Given the description of an element on the screen output the (x, y) to click on. 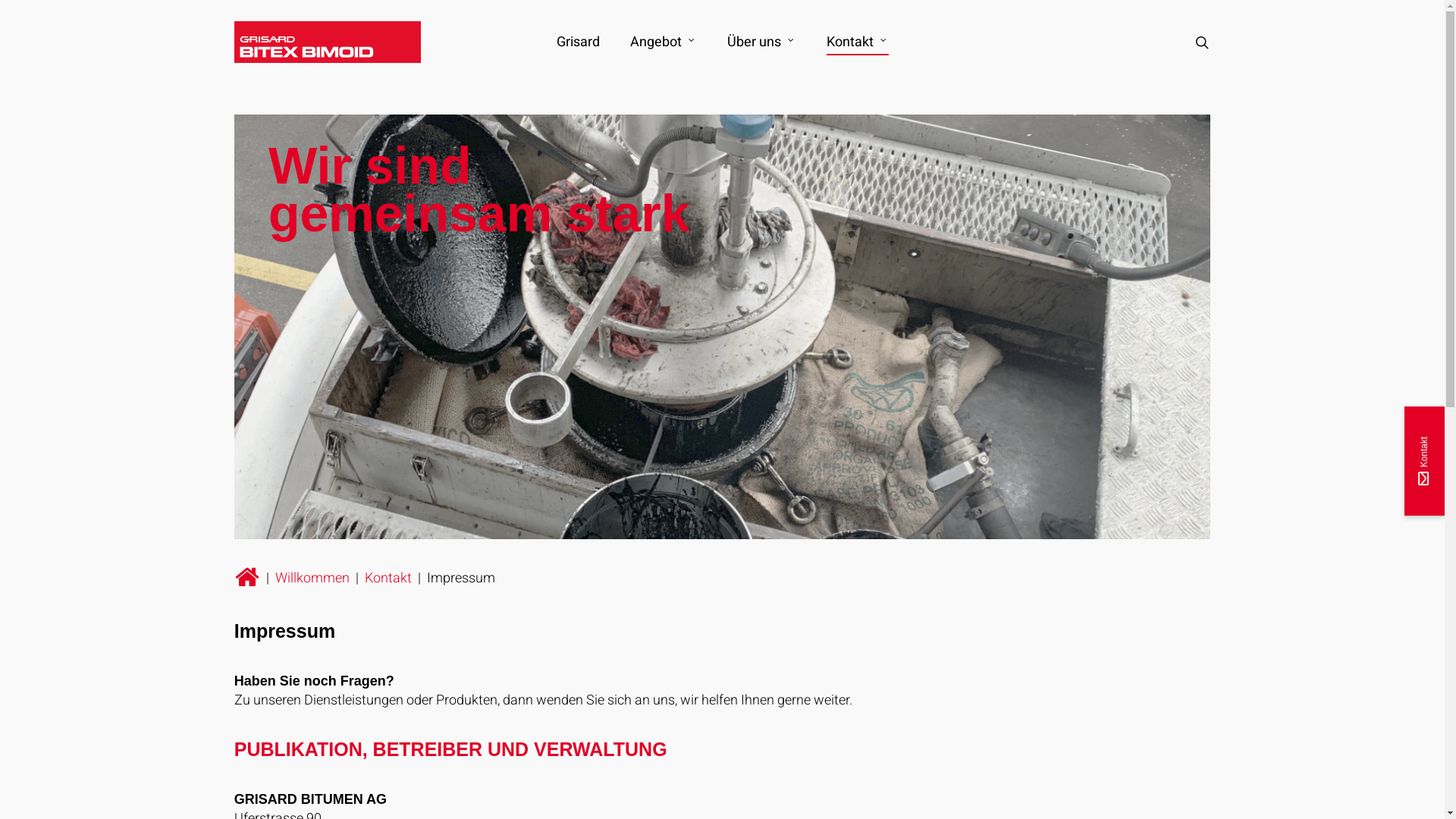
Kontakt Element type: text (387, 577)
Willkommen Element type: text (312, 577)
Grisard Element type: text (577, 41)
Kontakt Element type: text (857, 41)
Angebot Element type: text (662, 41)
